Given the description of an element on the screen output the (x, y) to click on. 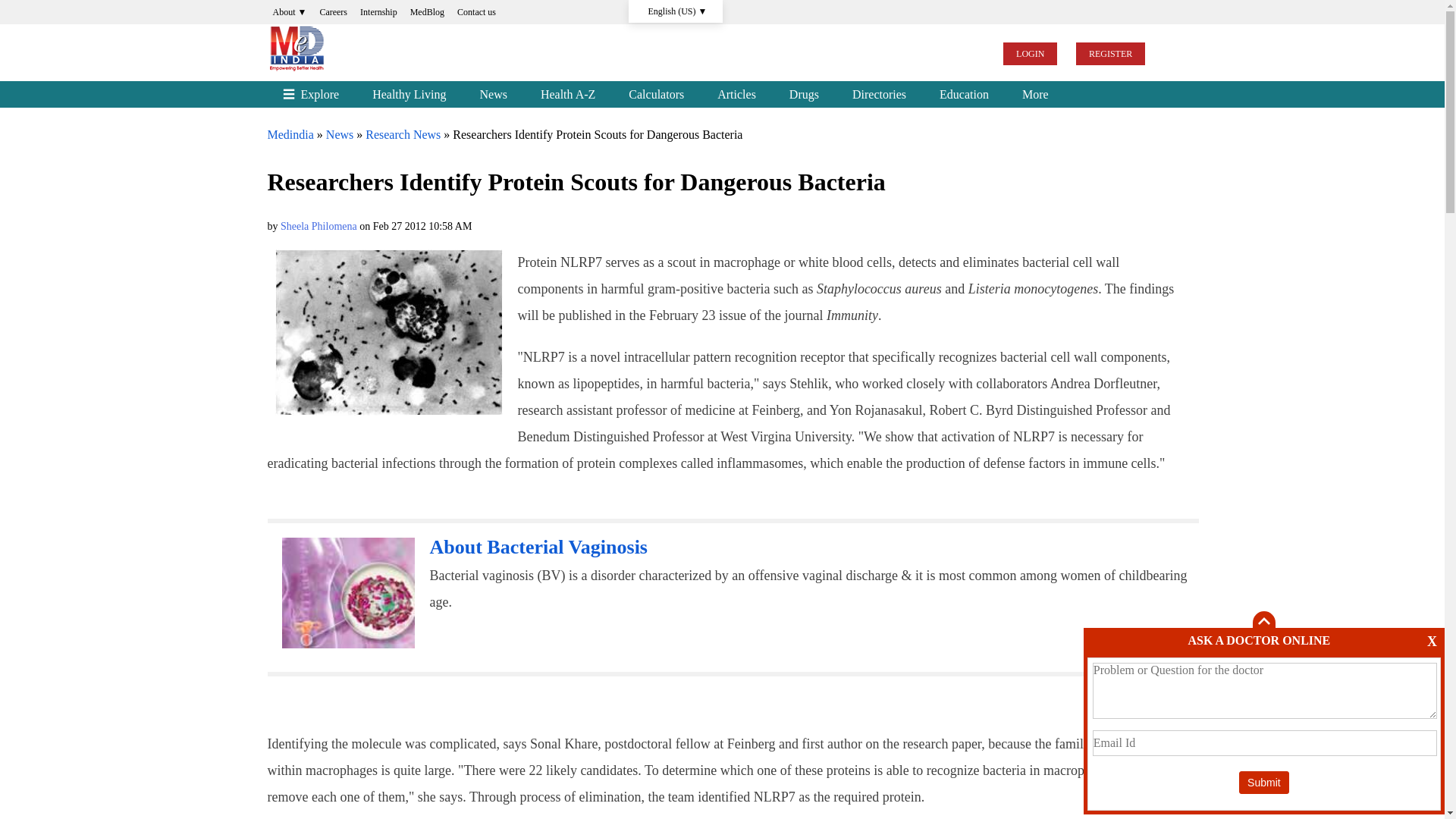
Articles (736, 93)
Education (964, 93)
Drugs (388, 332)
About Bacterial Vaginosis  (804, 93)
About Bacterial Vaginosis  (348, 592)
Calculators (538, 546)
LOGIN (655, 93)
More (1030, 53)
Directories (1035, 93)
News (879, 93)
About Bacterial Vaginosis (339, 133)
Internship (538, 546)
Healthy Living (379, 11)
Contact us (408, 93)
